Given the description of an element on the screen output the (x, y) to click on. 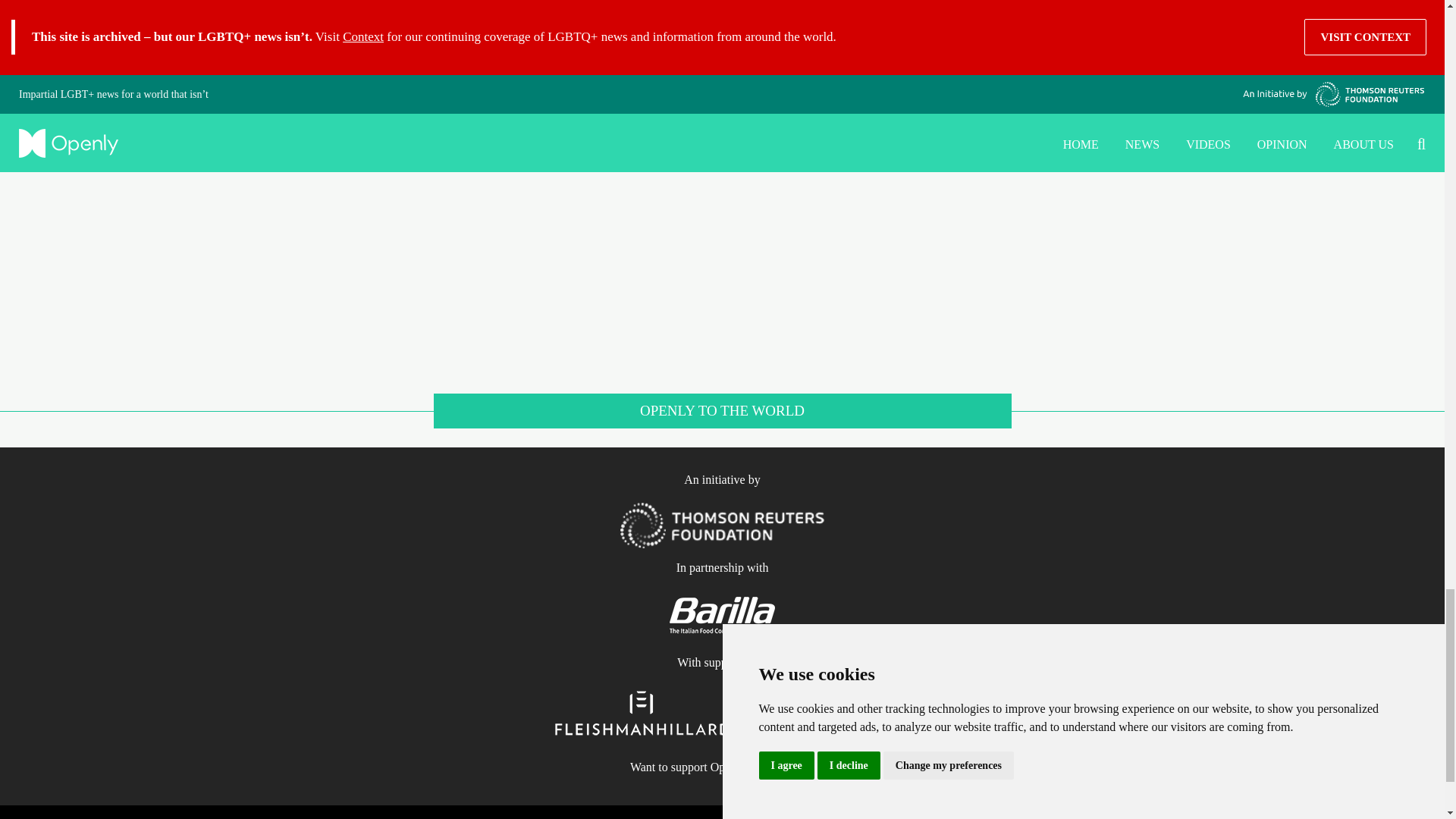
OPENLY TO THE WORLD (722, 420)
Get in touch (783, 766)
